Given the description of an element on the screen output the (x, y) to click on. 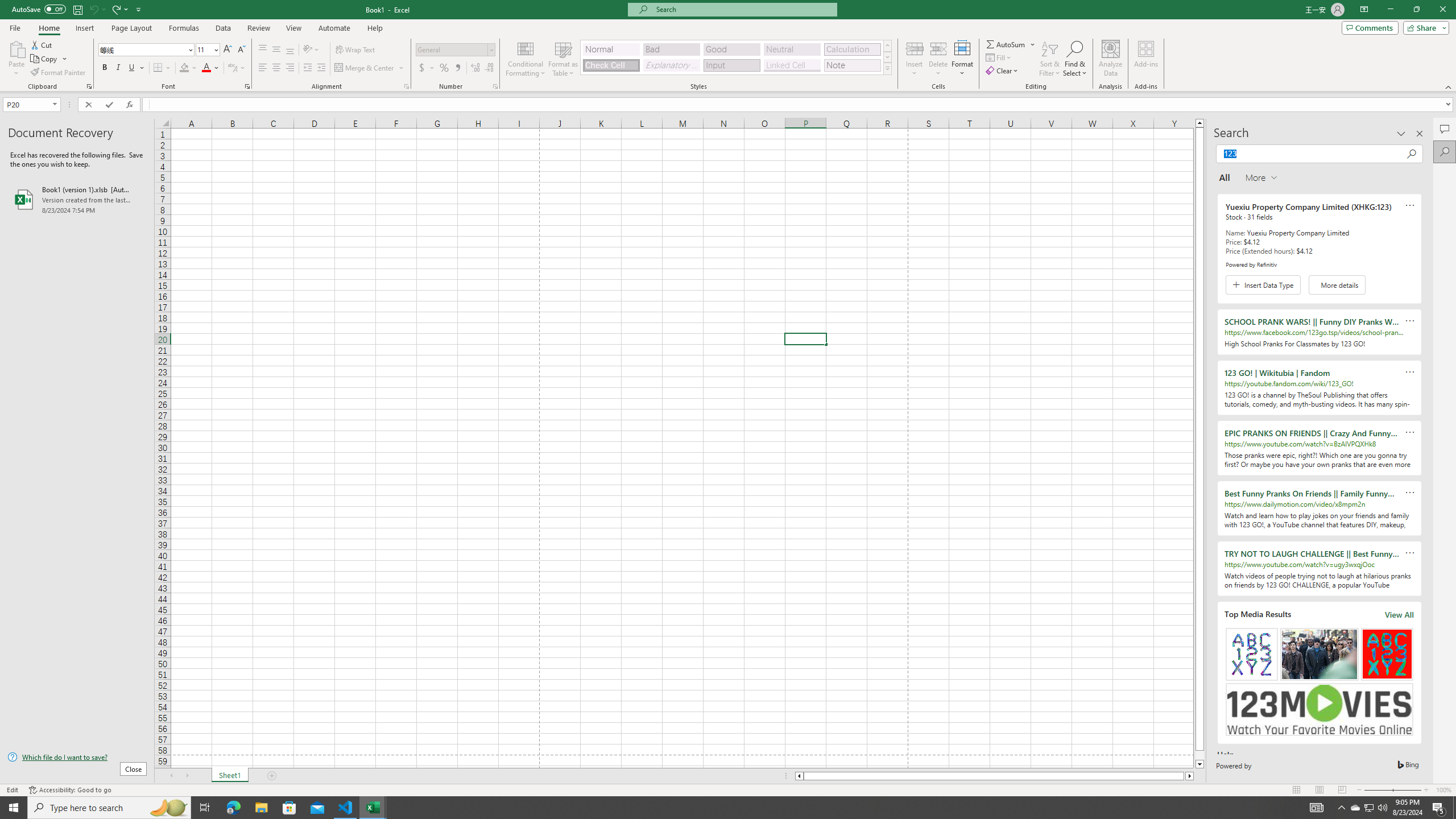
Explanatory Text (671, 65)
Paste (16, 58)
Format Cell Font (247, 85)
Italic (118, 67)
Format Cell Alignment (405, 85)
Borders (162, 67)
Font Color (210, 67)
Insert (83, 28)
Number Format (451, 49)
Restore Down (1416, 9)
Number Format (455, 49)
Merge & Center (365, 67)
More Options (1033, 44)
Office Clipboard... (88, 85)
Bad (671, 49)
